Given the description of an element on the screen output the (x, y) to click on. 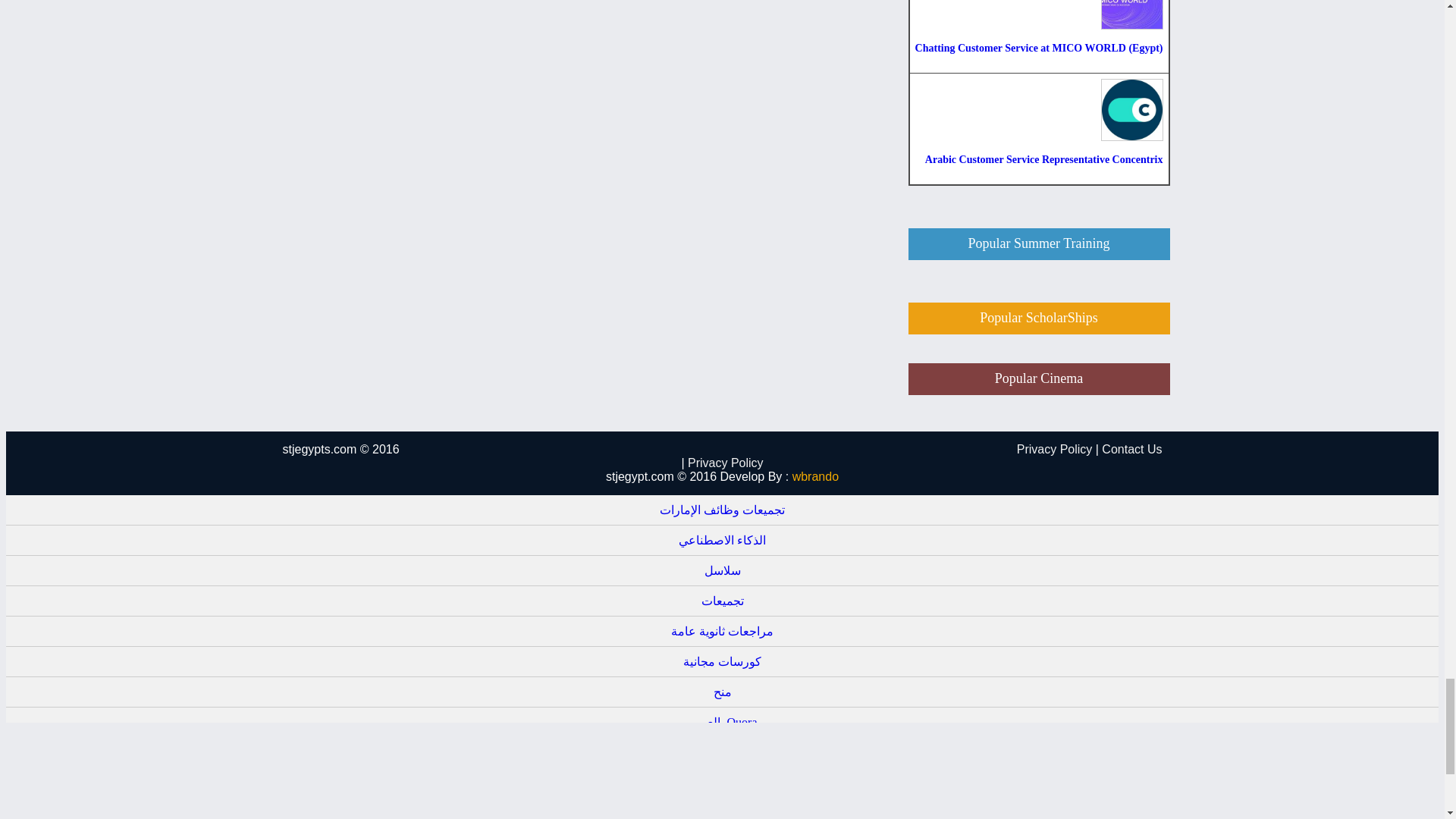
Arabic Customer Service Representative Concentrix (1039, 129)
